Given the description of an element on the screen output the (x, y) to click on. 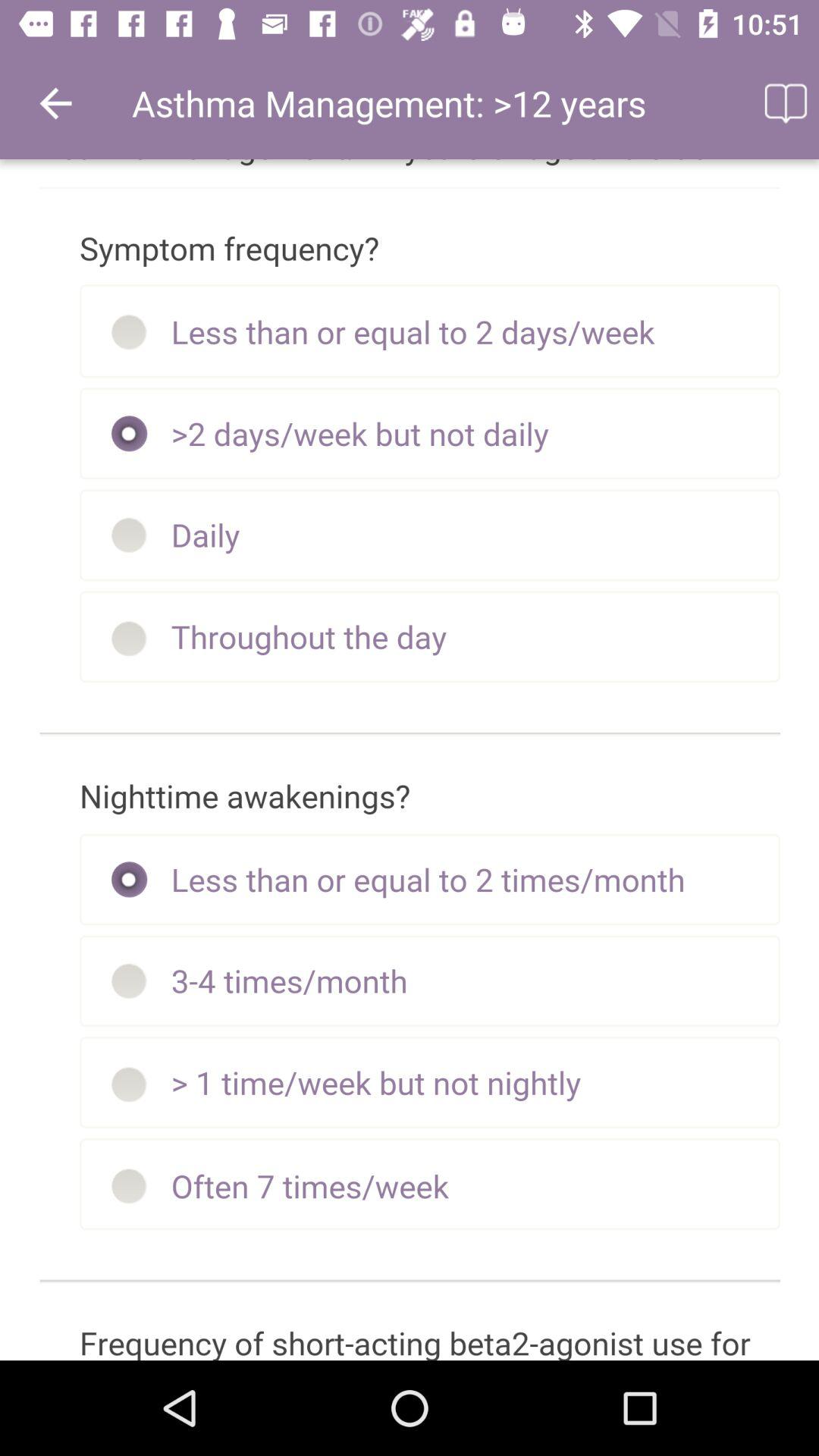
open the icon to the right of asthma management 12 (784, 103)
